Given the description of an element on the screen output the (x, y) to click on. 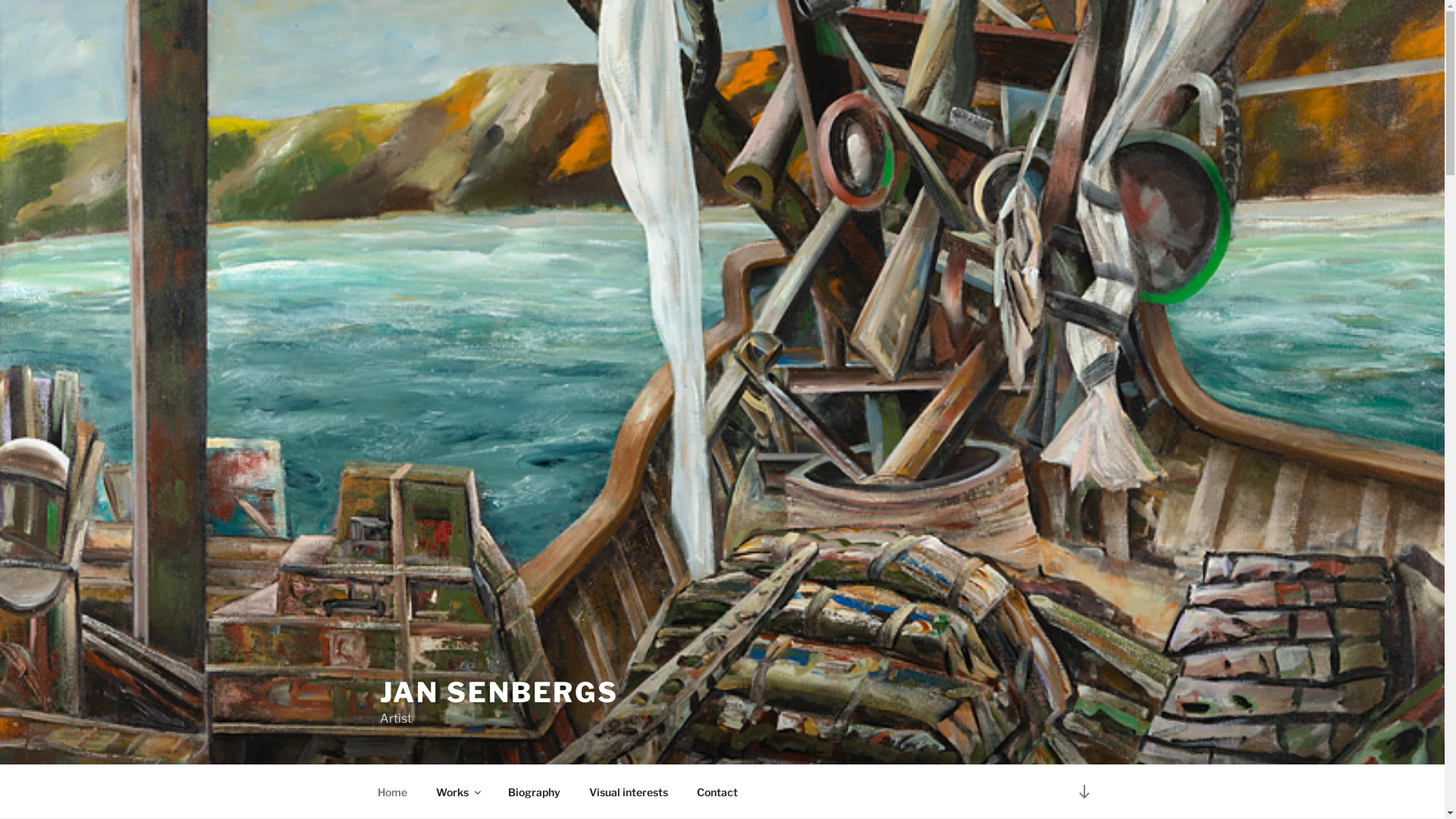
Home Element type: text (392, 791)
Contact Element type: text (717, 791)
Biography Element type: text (533, 791)
JAN SENBERGS Element type: text (498, 692)
Scroll down to content Element type: text (1083, 790)
Works Element type: text (457, 791)
Visual interests Element type: text (628, 791)
